Given the description of an element on the screen output the (x, y) to click on. 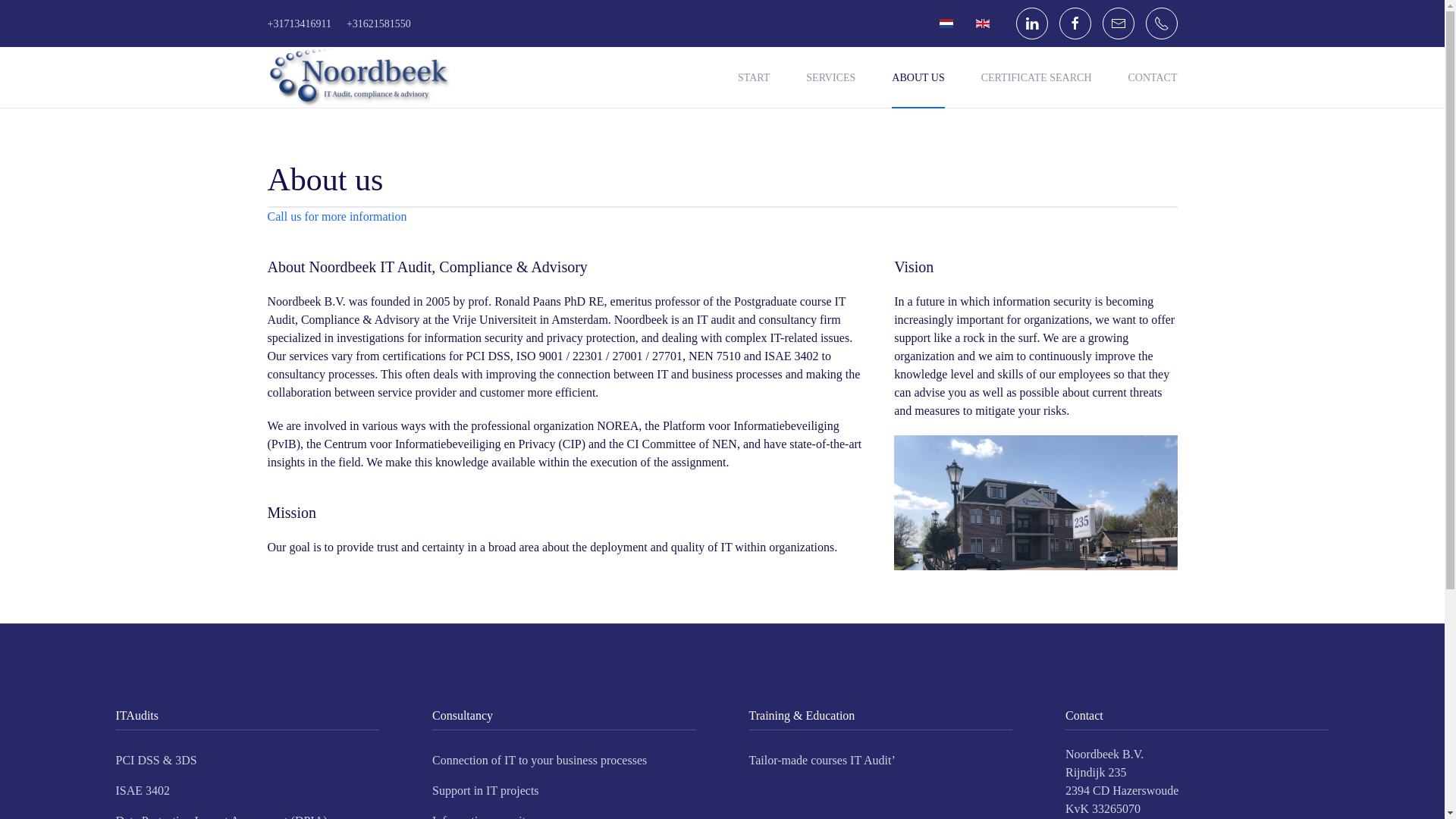
Call us for more information (336, 215)
